Given the description of an element on the screen output the (x, y) to click on. 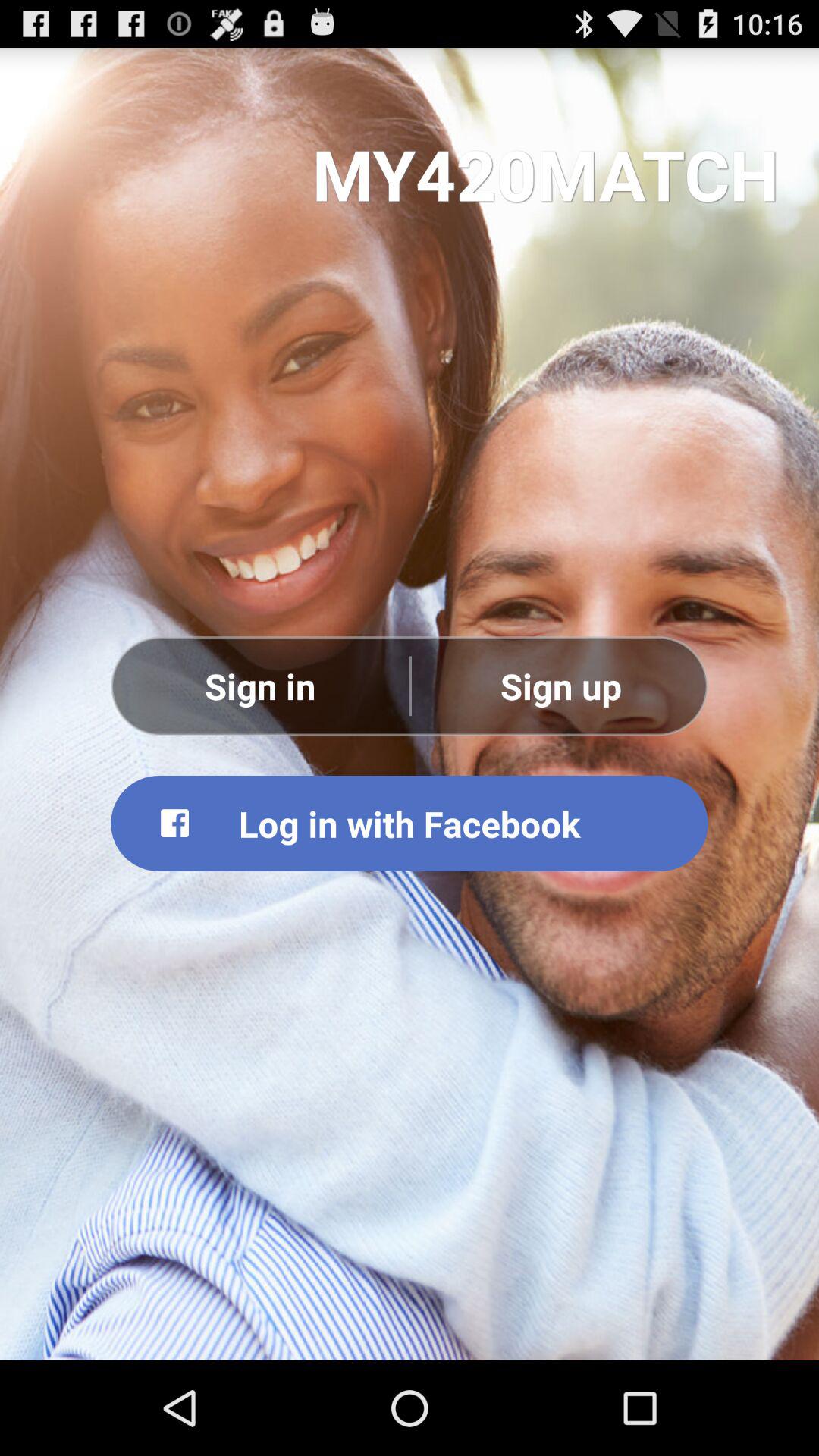
choose the icon above log in with item (259, 685)
